Given the description of an element on the screen output the (x, y) to click on. 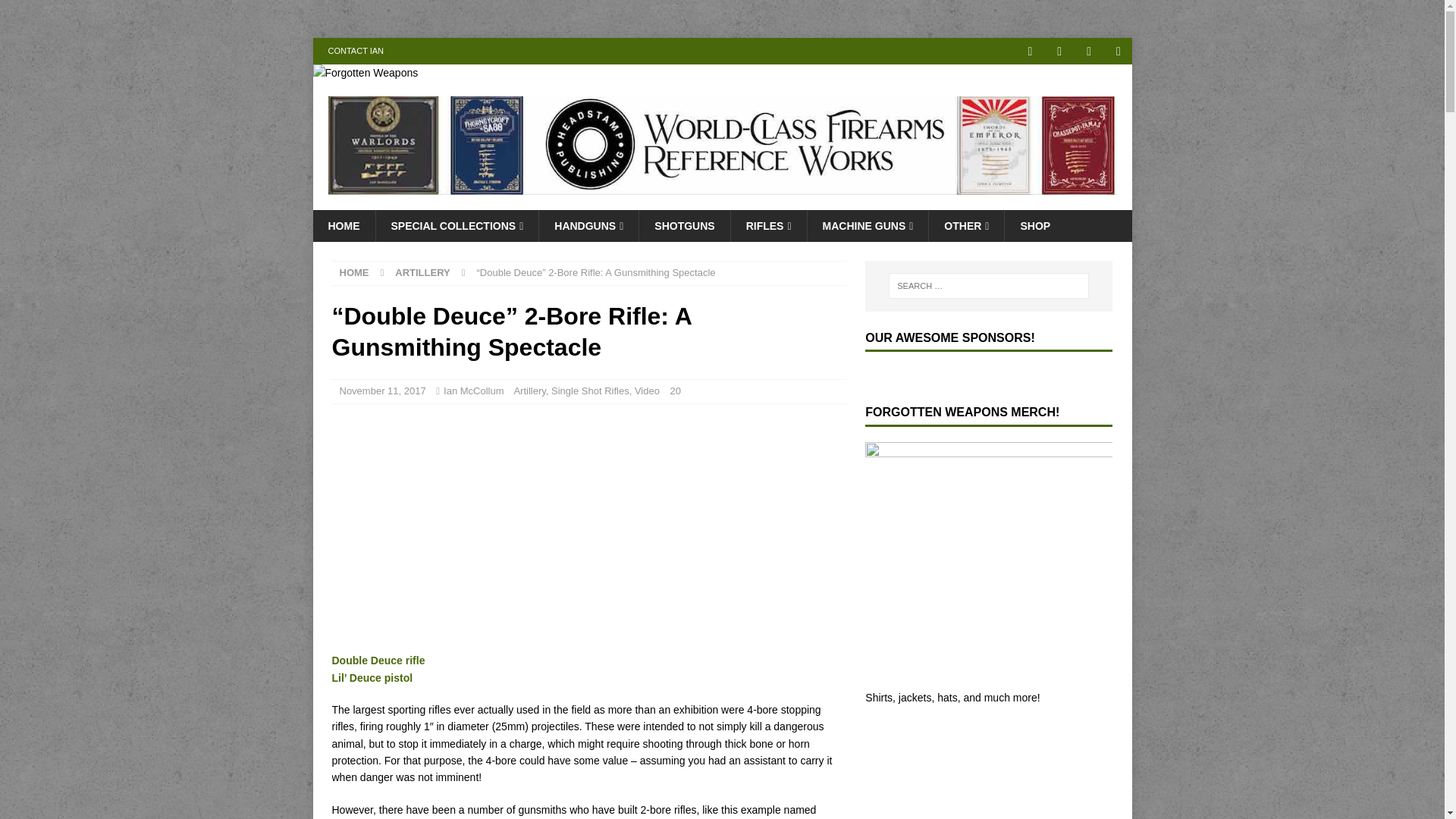
Artillery (421, 272)
Forgotten Weapons (365, 72)
"Double Deuce" 2-Bore Rifle: A Gunsmithing Spectacle (521, 525)
CONTACT IAN (355, 50)
Home (354, 272)
